Given the description of an element on the screen output the (x, y) to click on. 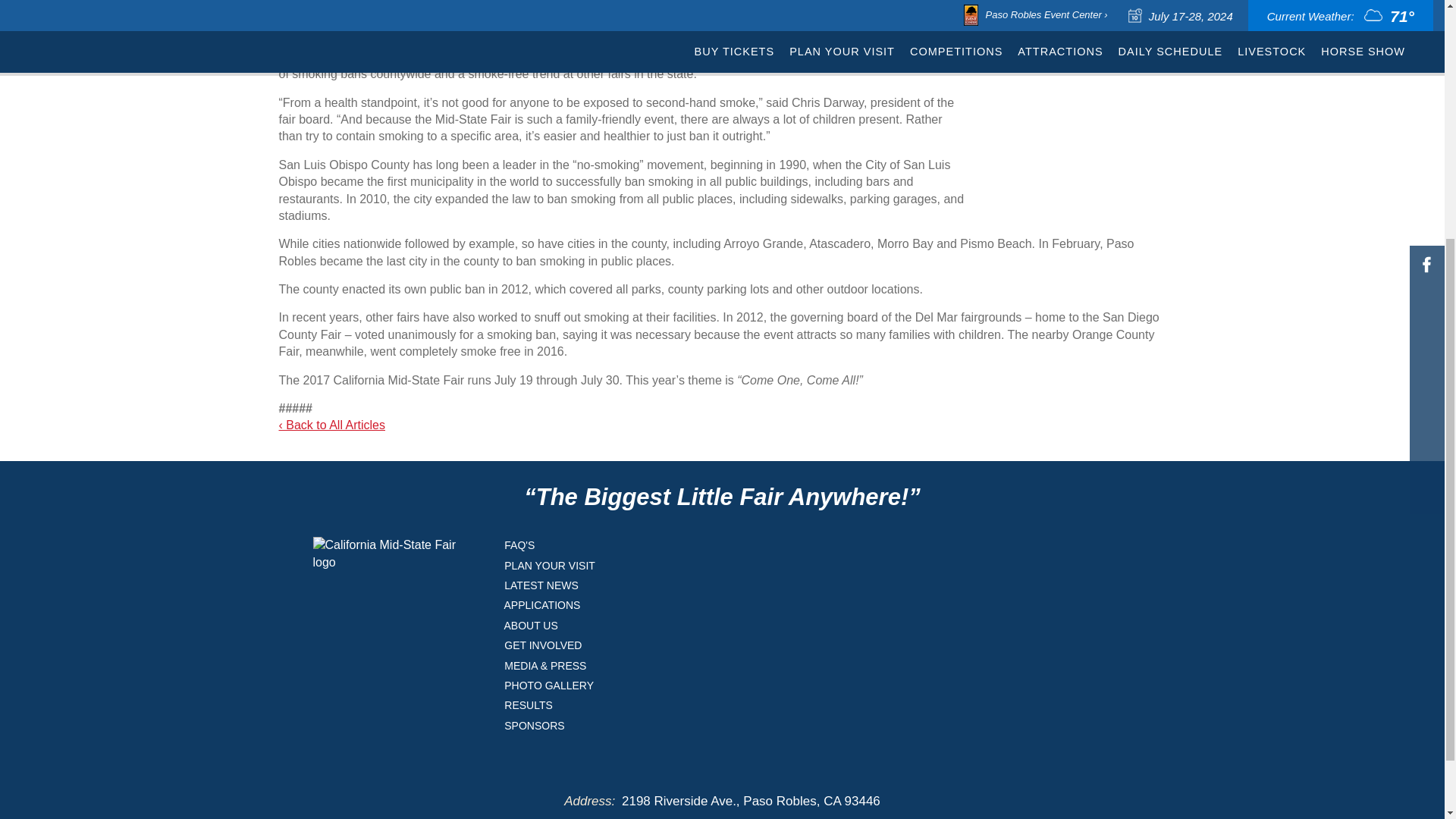
LinkedIn (1426, 50)
YouTube (1426, 108)
Snapchat (1426, 136)
Spotify (1426, 22)
Pinterest (1426, 79)
YouTube (1426, 108)
TikTok (1426, 2)
Spotify (1426, 22)
Snapchat (1426, 136)
TikTok (1426, 2)
